Given the description of an element on the screen output the (x, y) to click on. 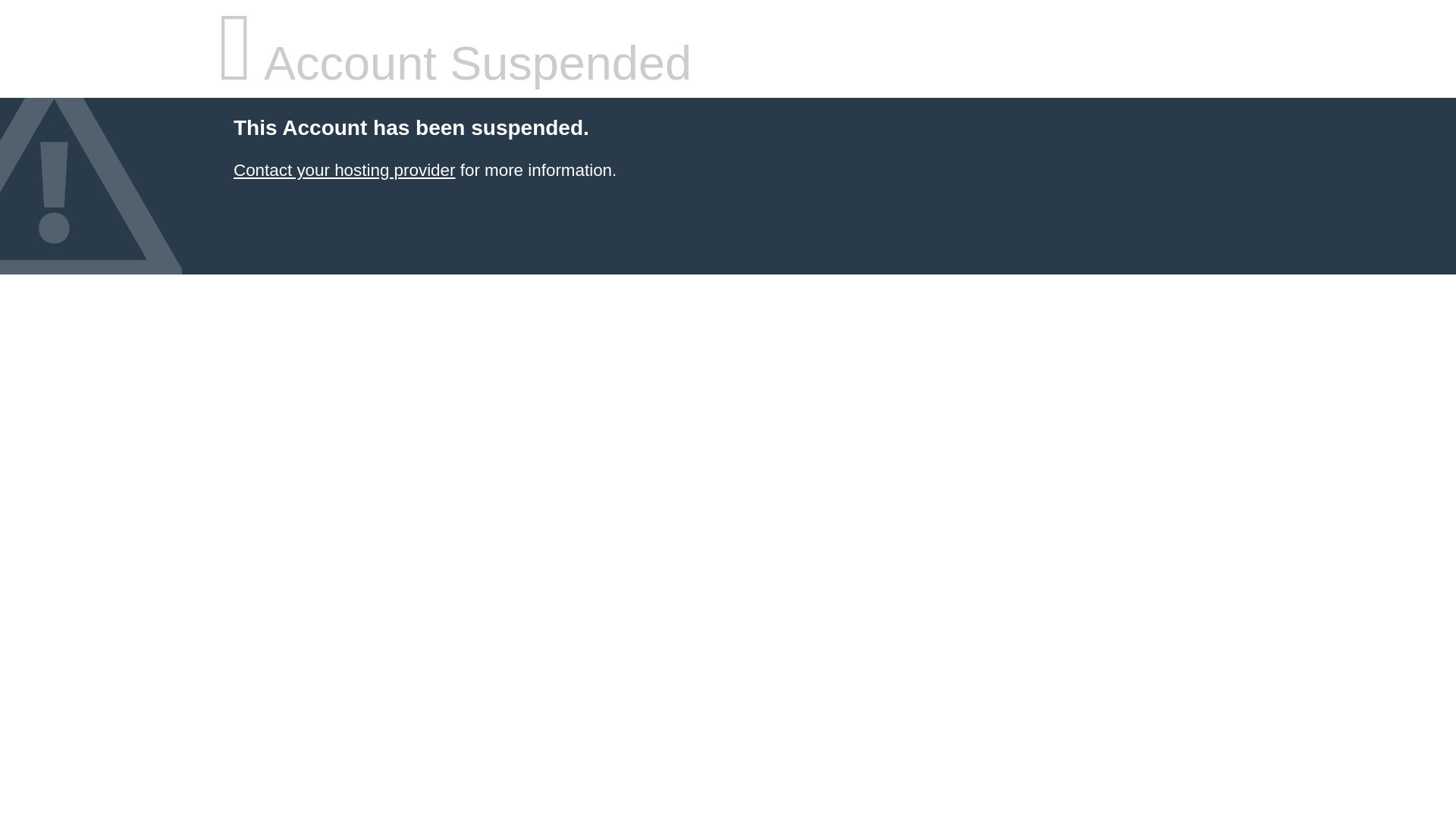
Contact your hosting provider (343, 169)
